Given the description of an element on the screen output the (x, y) to click on. 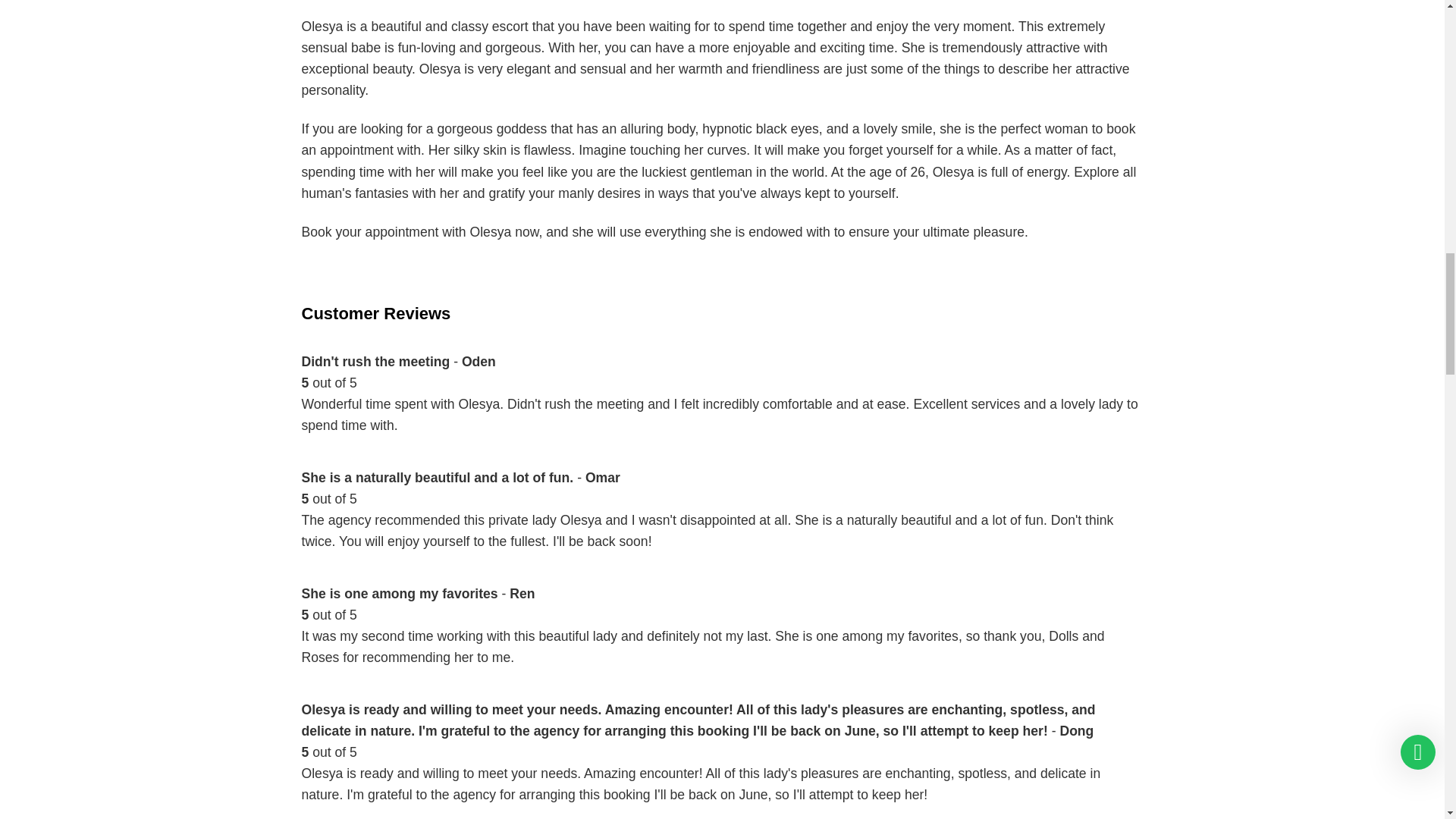
Rated 5 out of 5 (721, 614)
Rated 5 out of 5 (721, 498)
Rated 5 out of 5 (721, 752)
Rated 5 out of 5 (721, 382)
